Given the description of an element on the screen output the (x, y) to click on. 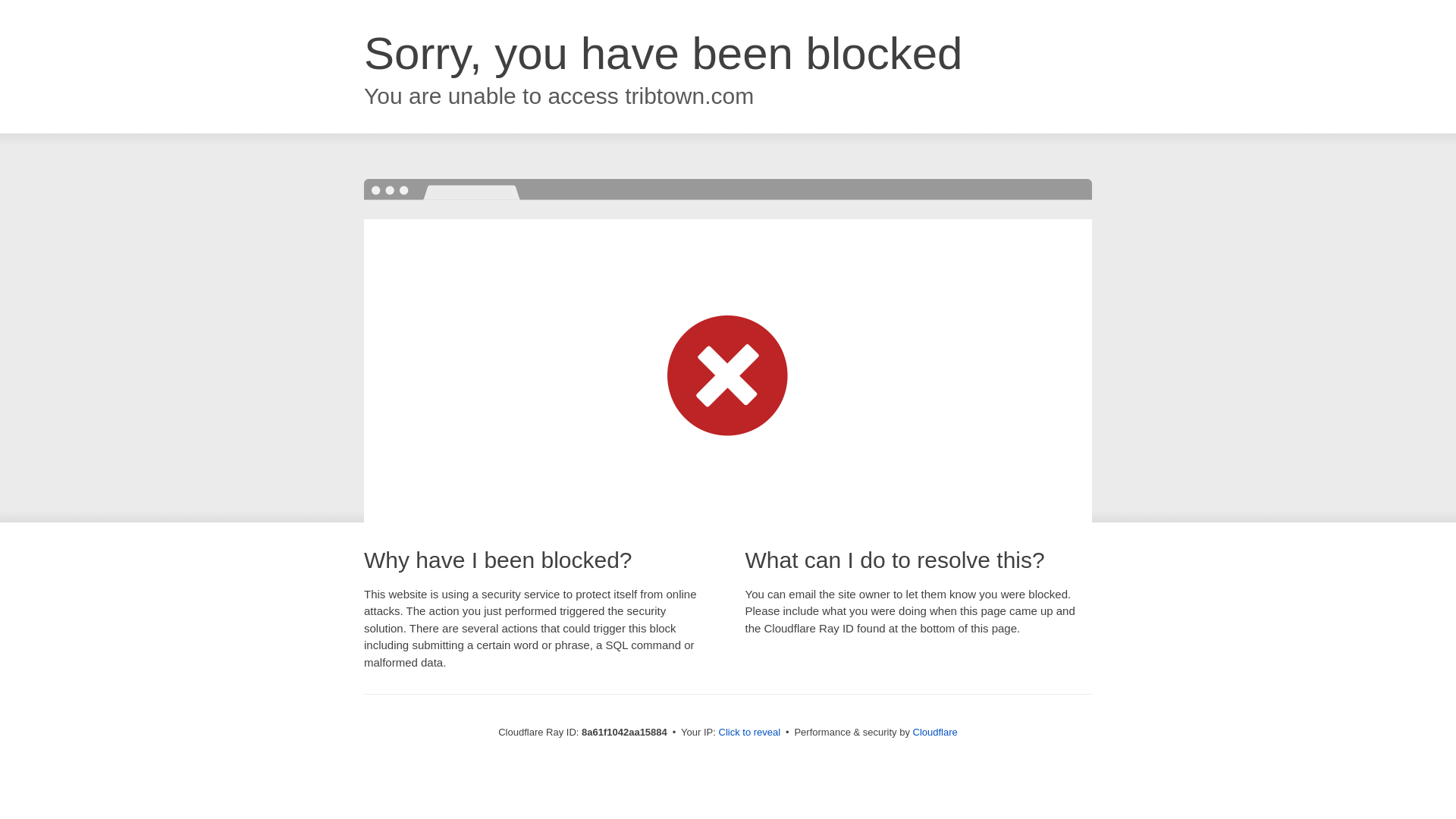
Cloudflare (935, 731)
Click to reveal (749, 732)
